Given the description of an element on the screen output the (x, y) to click on. 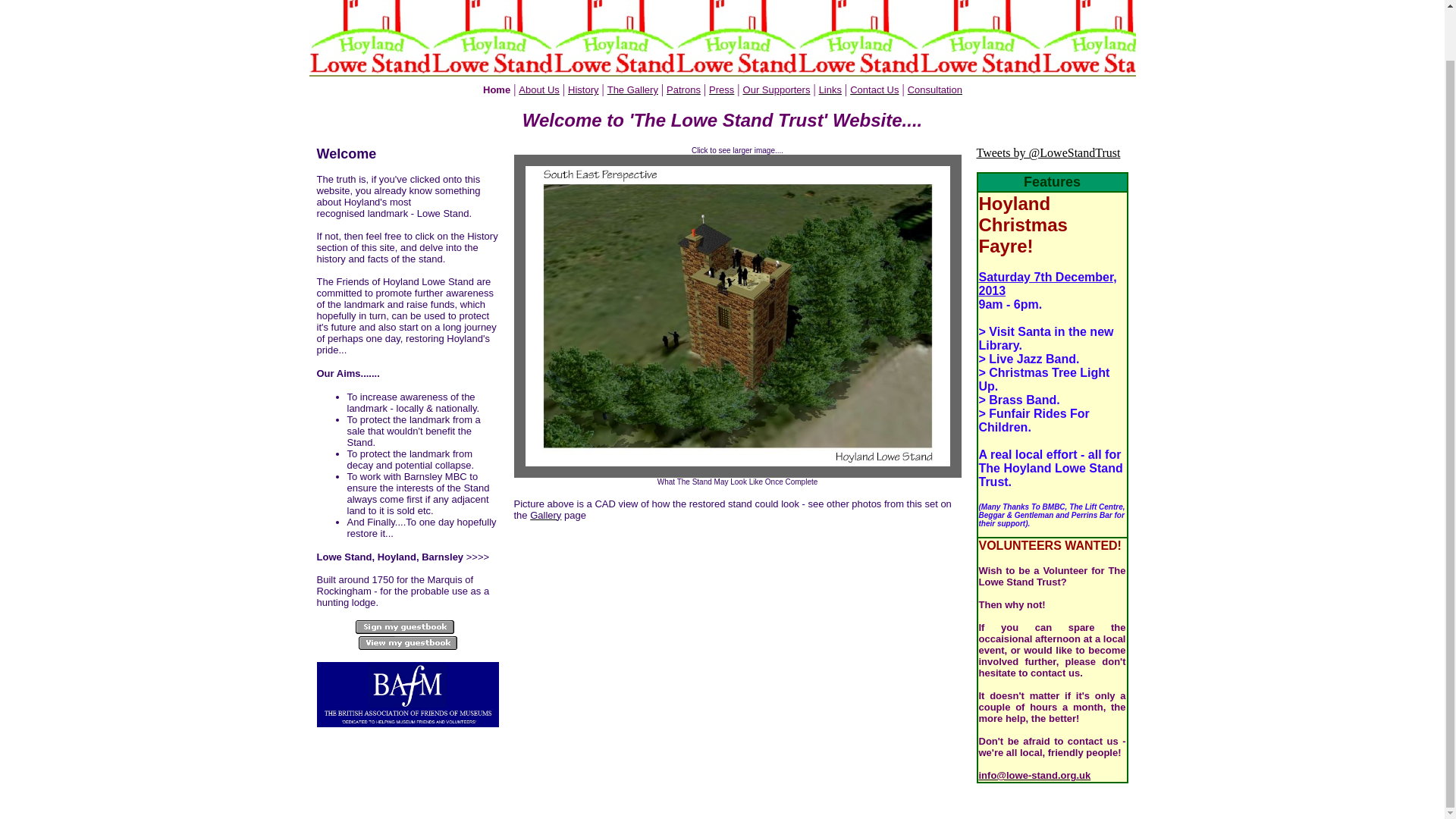
Contact Us (874, 89)
The Gallery (632, 89)
History (582, 89)
Links (829, 89)
Consultation (934, 89)
Our Supporters (776, 89)
Gallery (544, 514)
Patrons (683, 89)
About Us (538, 89)
Press (721, 89)
